Given the description of an element on the screen output the (x, y) to click on. 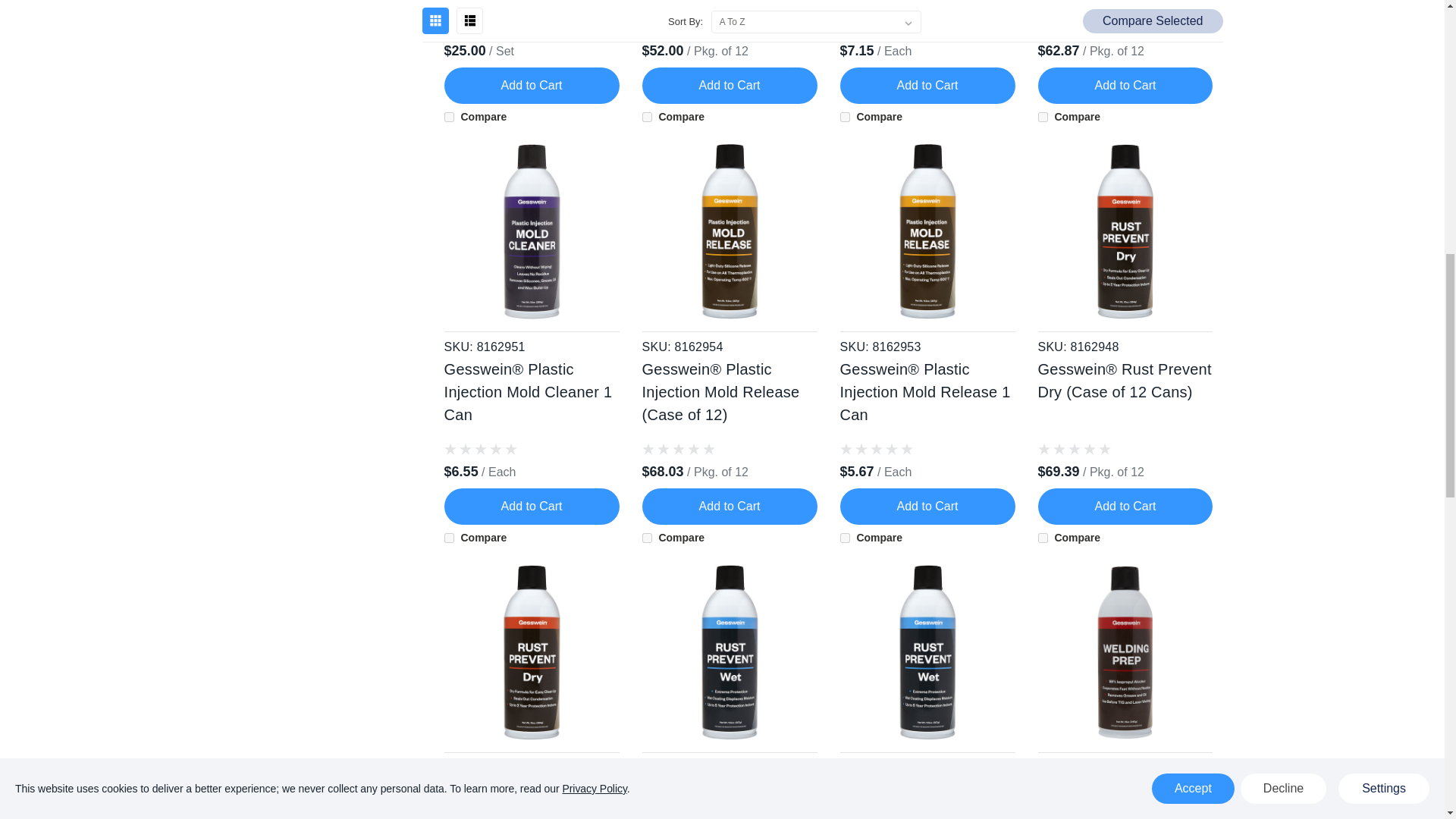
9593 (1041, 537)
9596 (449, 537)
16080 (449, 117)
9598 (845, 537)
9597 (1041, 117)
9591 (647, 117)
9599 (647, 537)
9590 (845, 117)
